Given the description of an element on the screen output the (x, y) to click on. 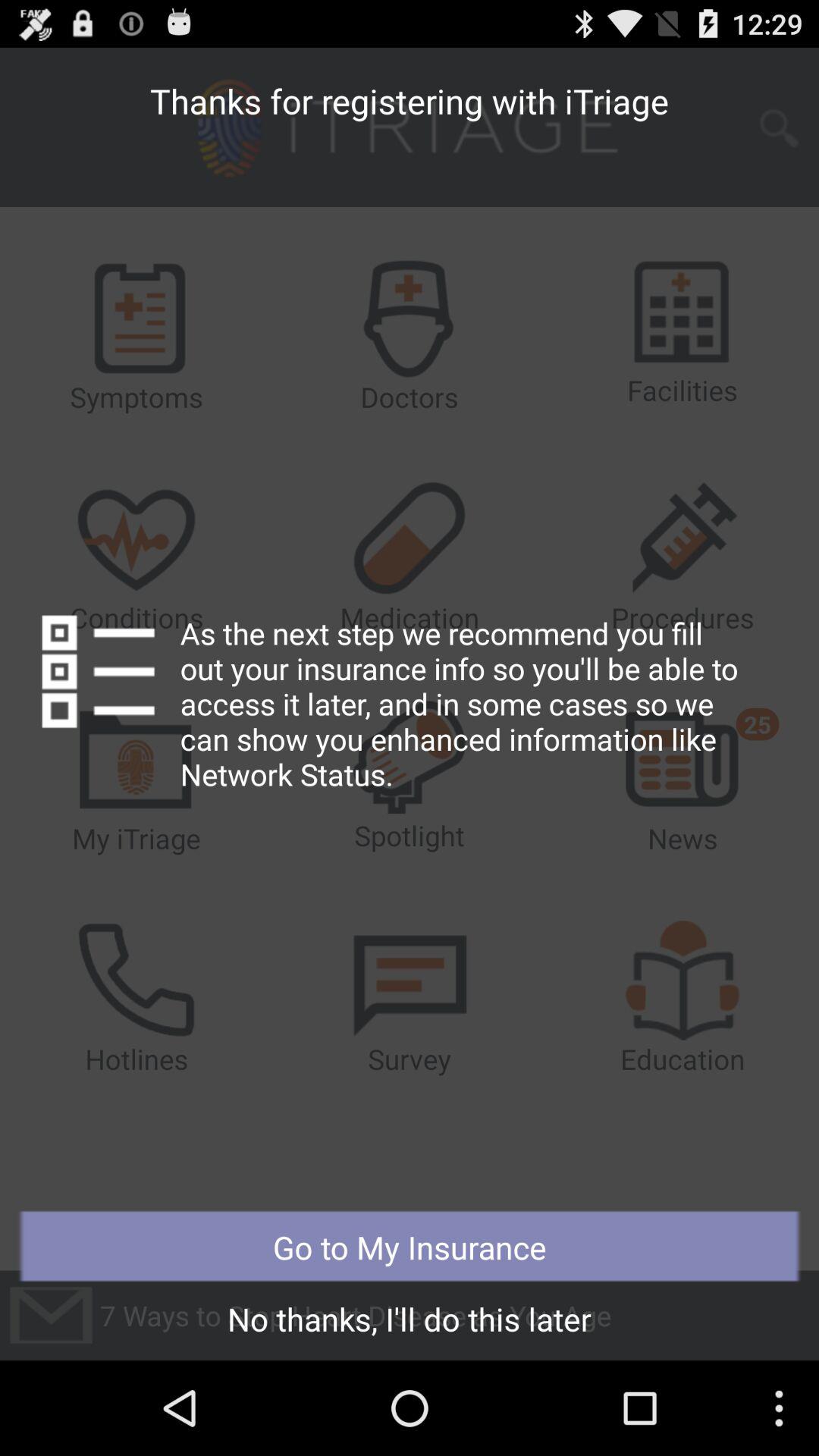
choose the no thanks i icon (409, 1323)
